Given the description of an element on the screen output the (x, y) to click on. 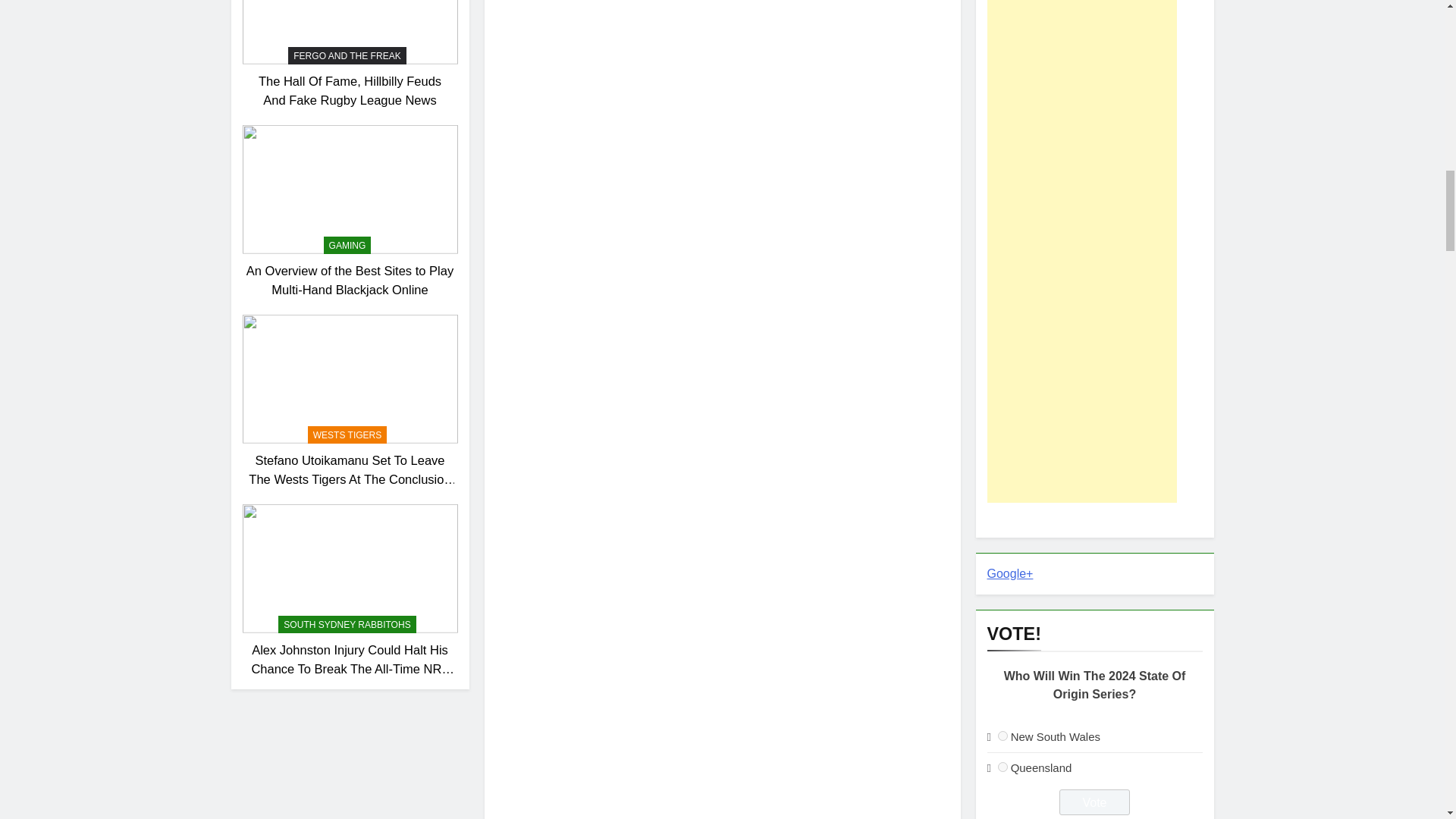
323 (1002, 767)
   Vote    (1094, 801)
322 (1002, 736)
